Given the description of an element on the screen output the (x, y) to click on. 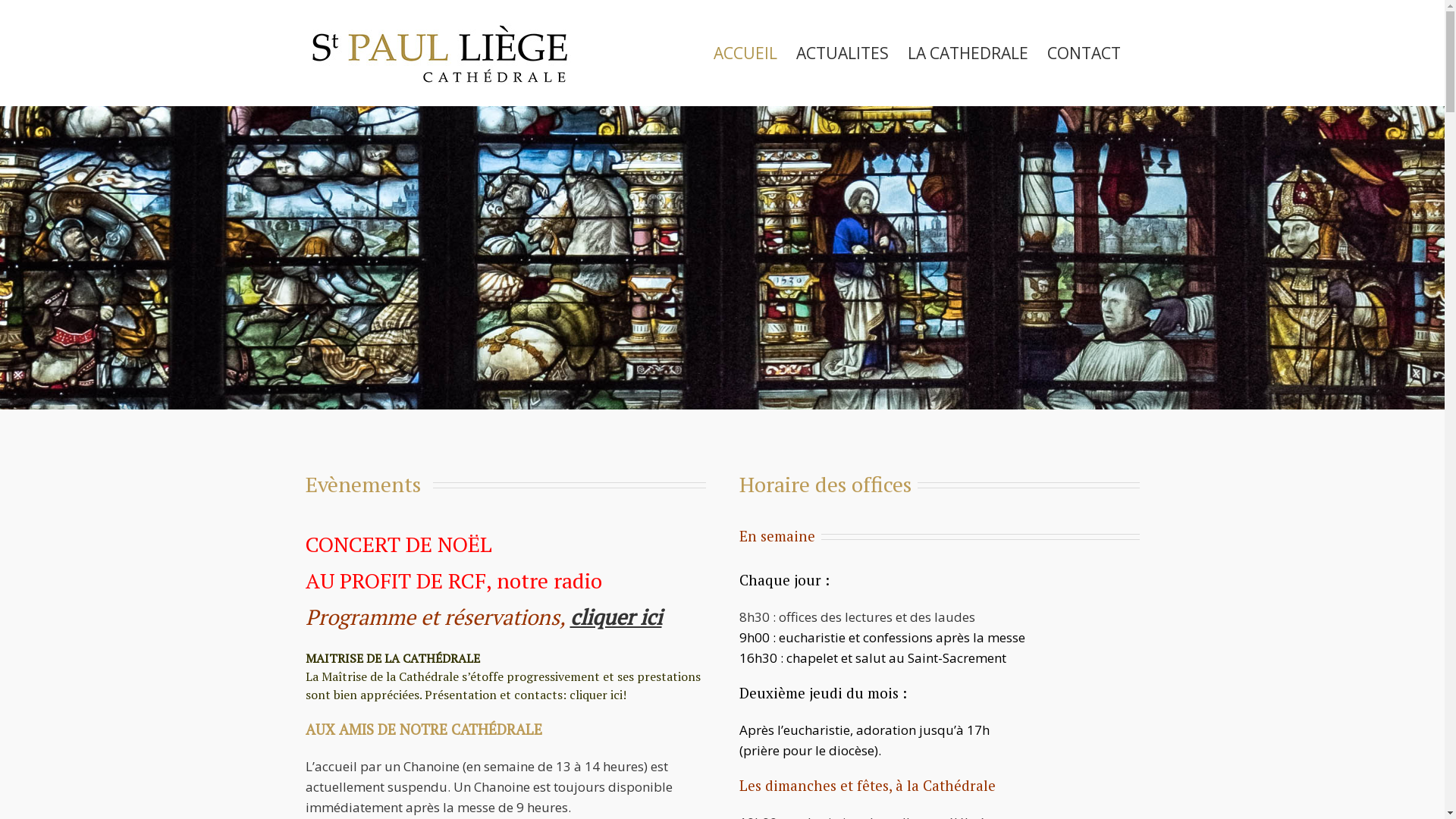
ACTUALITES Element type: text (842, 53)
CONTACT Element type: text (1083, 53)
cliquer ici Element type: text (616, 616)
cliquer ici! Element type: text (596, 694)
ACCUEIL Element type: text (744, 53)
LA CATHEDRALE Element type: text (966, 53)
